Given the description of an element on the screen output the (x, y) to click on. 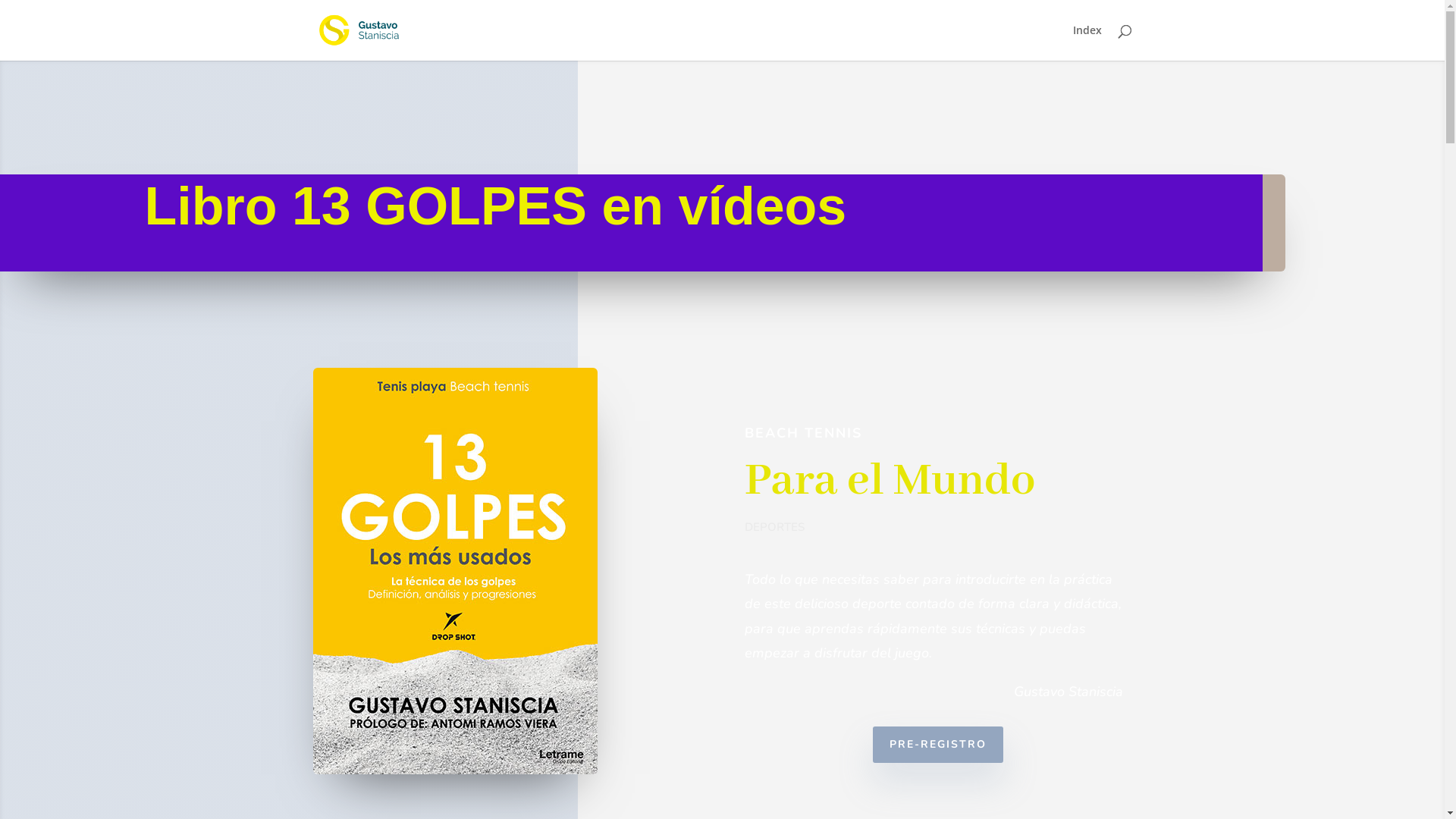
PRE-REGISTRO Element type: text (937, 744)
Index Element type: text (1086, 42)
